Given the description of an element on the screen output the (x, y) to click on. 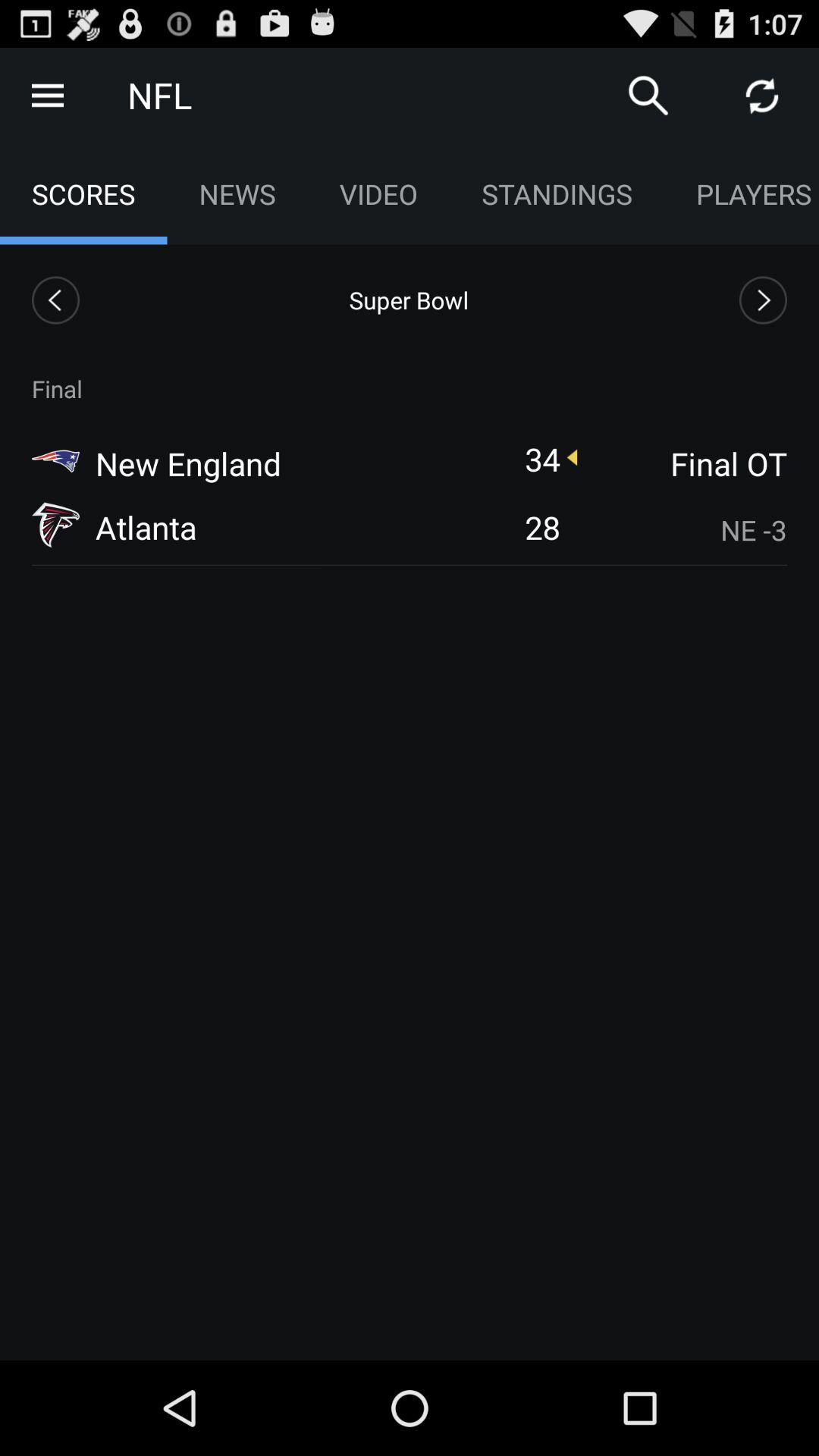
turn off app on the right (683, 529)
